Given the description of an element on the screen output the (x, y) to click on. 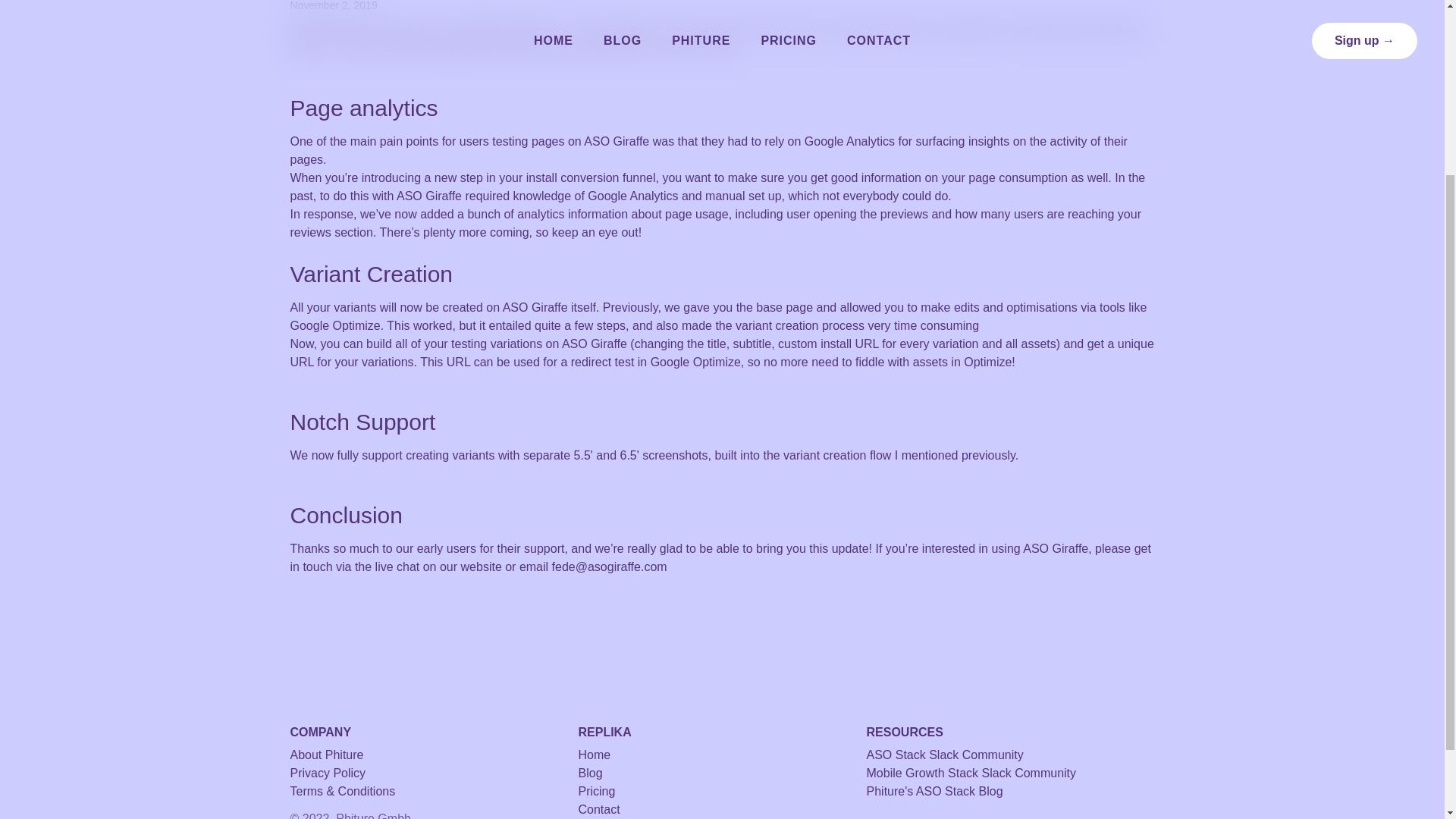
About Phiture (433, 755)
Blog (722, 773)
Pricing (722, 791)
Home (722, 755)
Phiture's ASO Stack Blog (1010, 791)
Mobile Growth Stack Slack Community (1010, 773)
Privacy Policy (433, 773)
ASO Stack Slack Community (1010, 755)
